Given the description of an element on the screen output the (x, y) to click on. 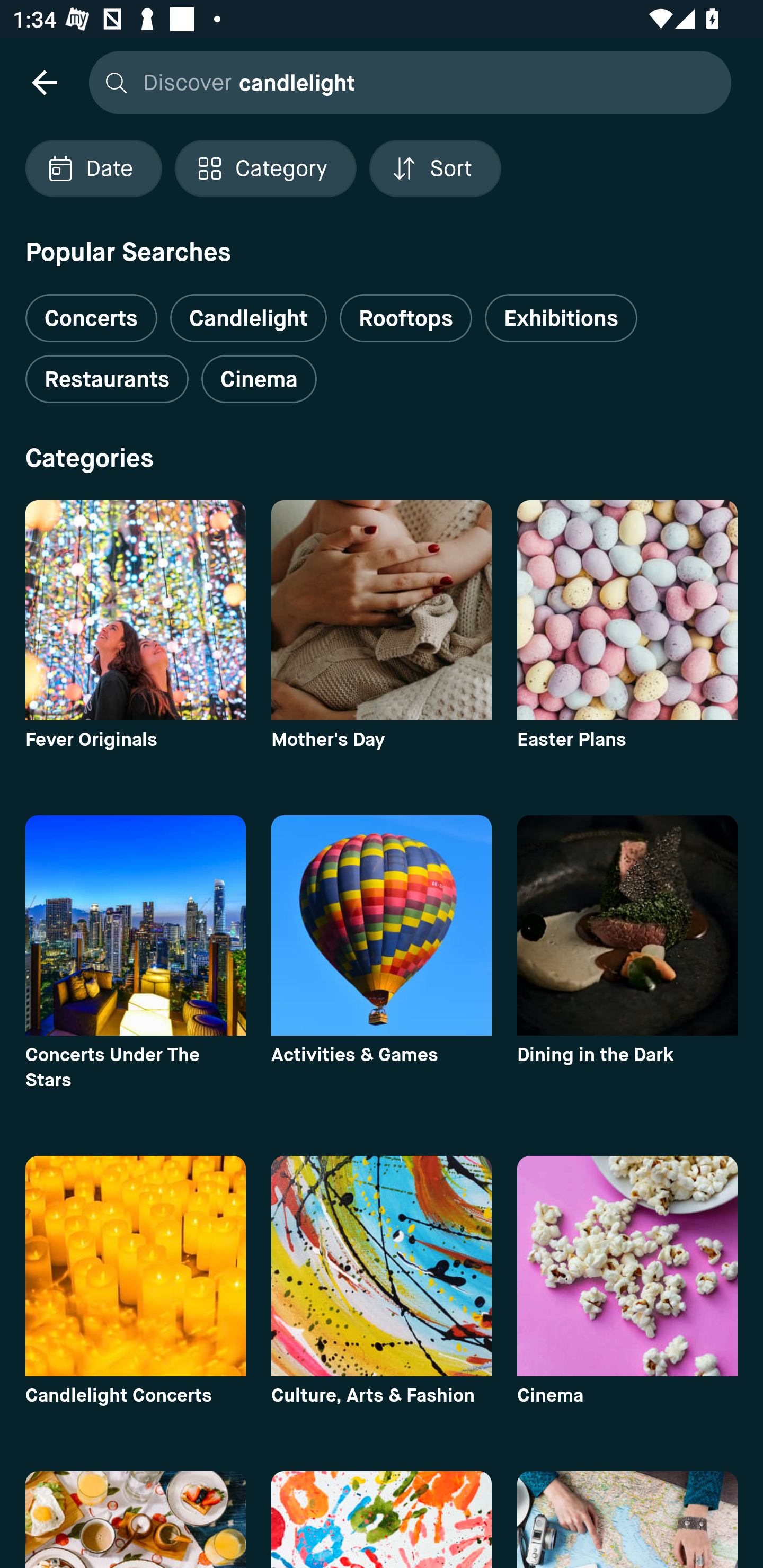
navigation icon (44, 81)
Discover candlelight (405, 81)
Localized description Date (93, 168)
Localized description Category (265, 168)
Localized description Sort (435, 168)
Concerts (91, 310)
Candlelight (248, 317)
Rooftops (405, 317)
Exhibitions (560, 317)
Restaurants (106, 379)
Cinema (258, 379)
category image (135, 609)
category image (381, 609)
category image (627, 609)
category image (135, 924)
category image (381, 924)
category image (627, 924)
category image (135, 1265)
category image (381, 1265)
category image (627, 1265)
